Given the description of an element on the screen output the (x, y) to click on. 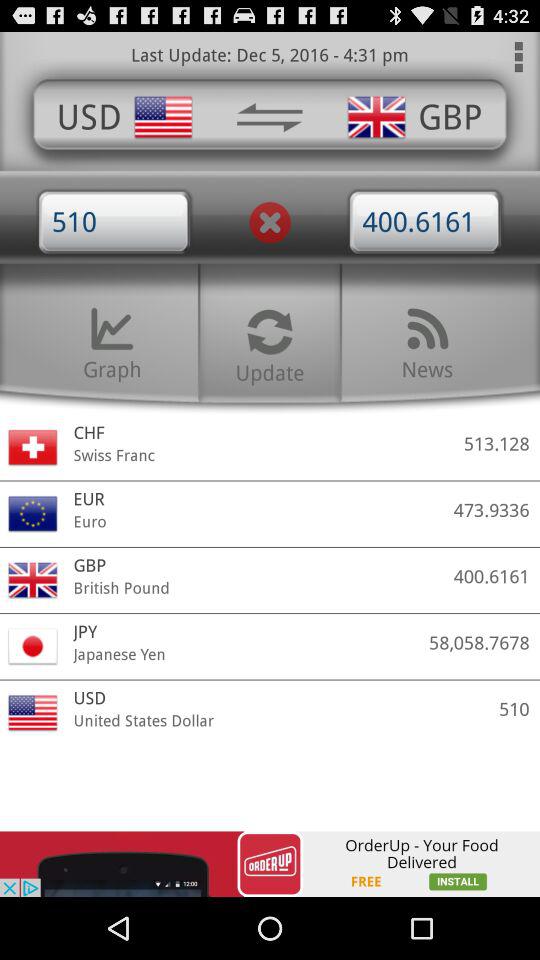
go to update (270, 343)
click on 4006161 option (425, 222)
